Given the description of an element on the screen output the (x, y) to click on. 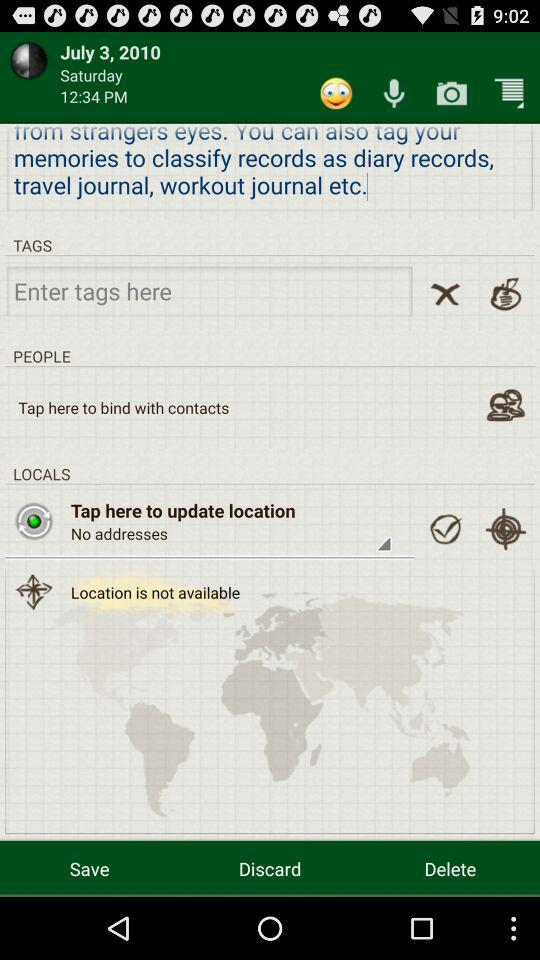
select the item to the right of the saturday (336, 92)
